Given the description of an element on the screen output the (x, y) to click on. 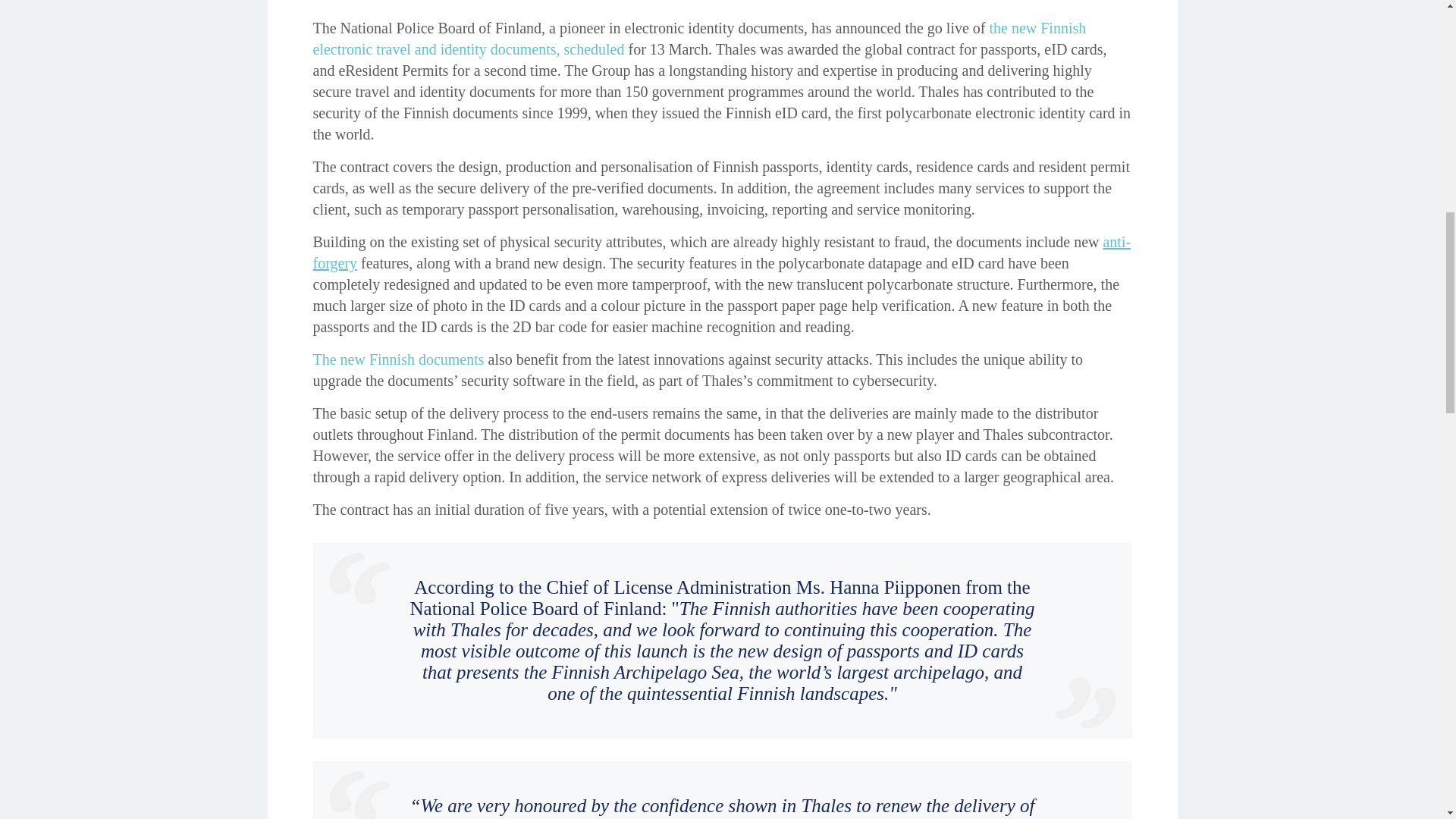
The new Finnish documents (398, 359)
anti-forgery (722, 252)
